Given the description of an element on the screen output the (x, y) to click on. 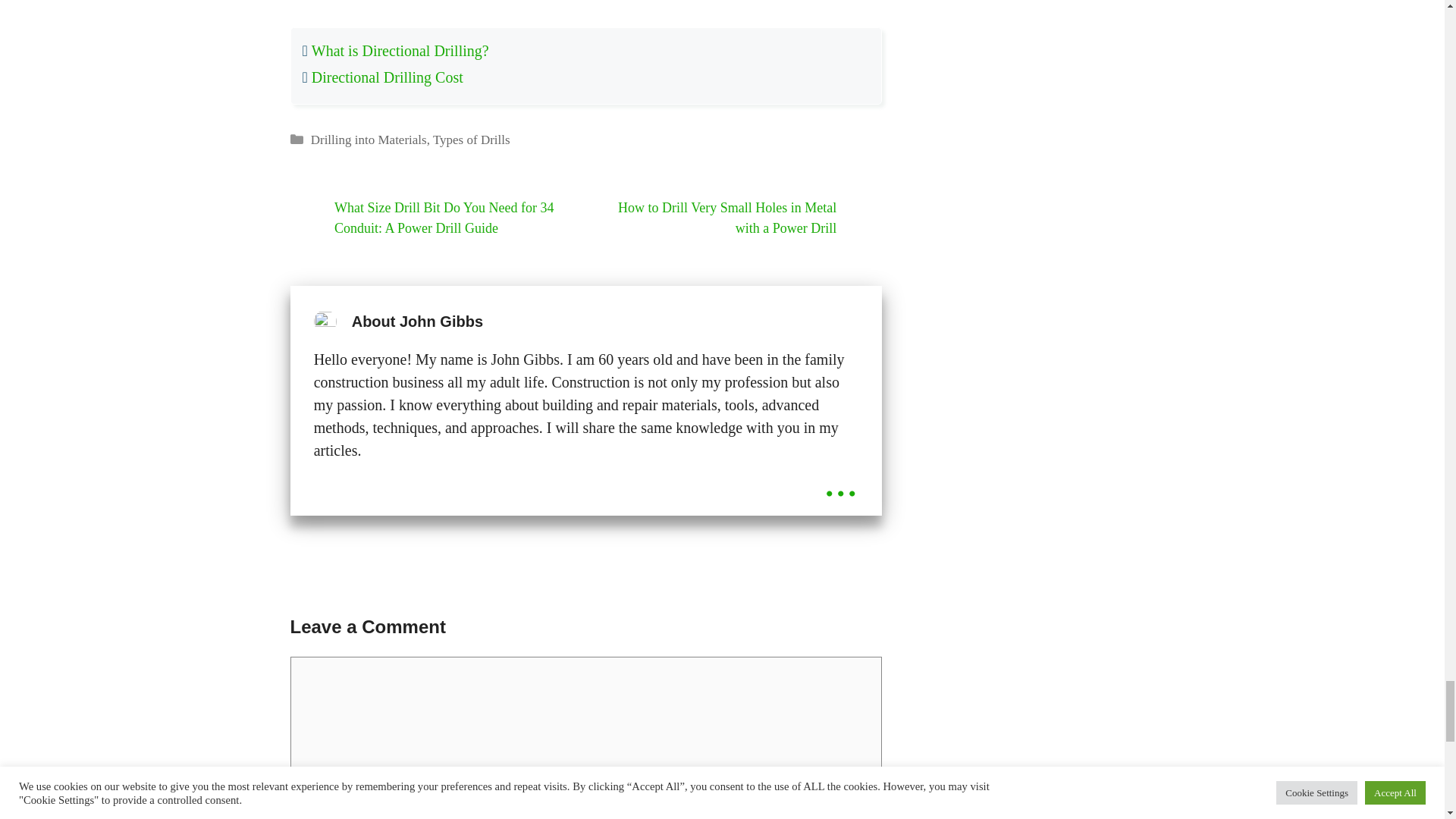
Read more (840, 479)
